Given the description of an element on the screen output the (x, y) to click on. 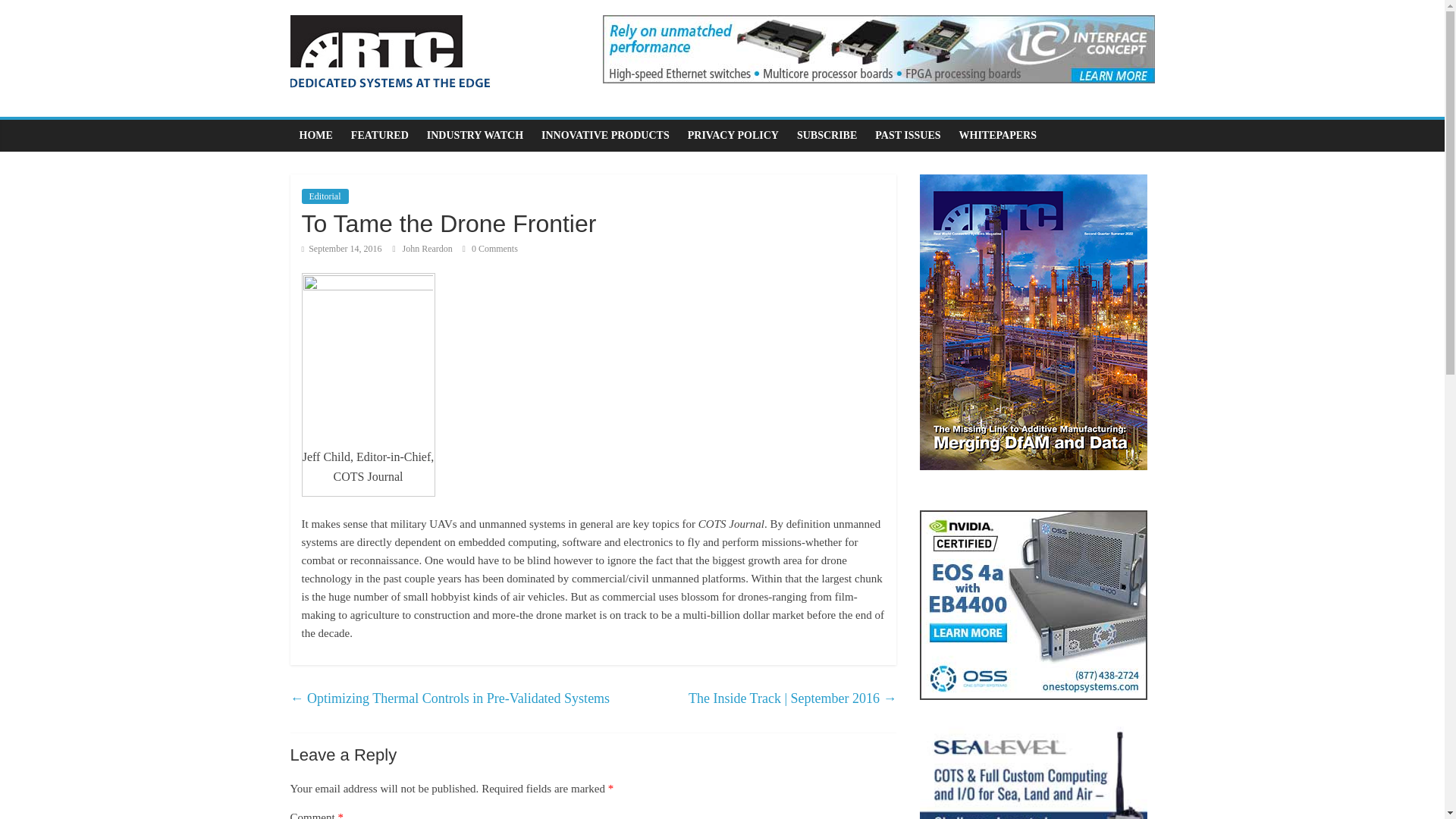
WHITEPAPERS (997, 135)
HOME (314, 135)
September 14, 2016 (341, 248)
John Reardon (428, 248)
Editorial (325, 196)
SUBSCRIBE (826, 135)
0 Comments (490, 248)
INDUSTRY WATCH (474, 135)
Home (314, 135)
PAST ISSUES (907, 135)
PRIVACY POLICY (732, 135)
INNOVATIVE PRODUCTS (605, 135)
FEATURED (379, 135)
John Reardon (428, 248)
7:25 pm (341, 248)
